Given the description of an element on the screen output the (x, y) to click on. 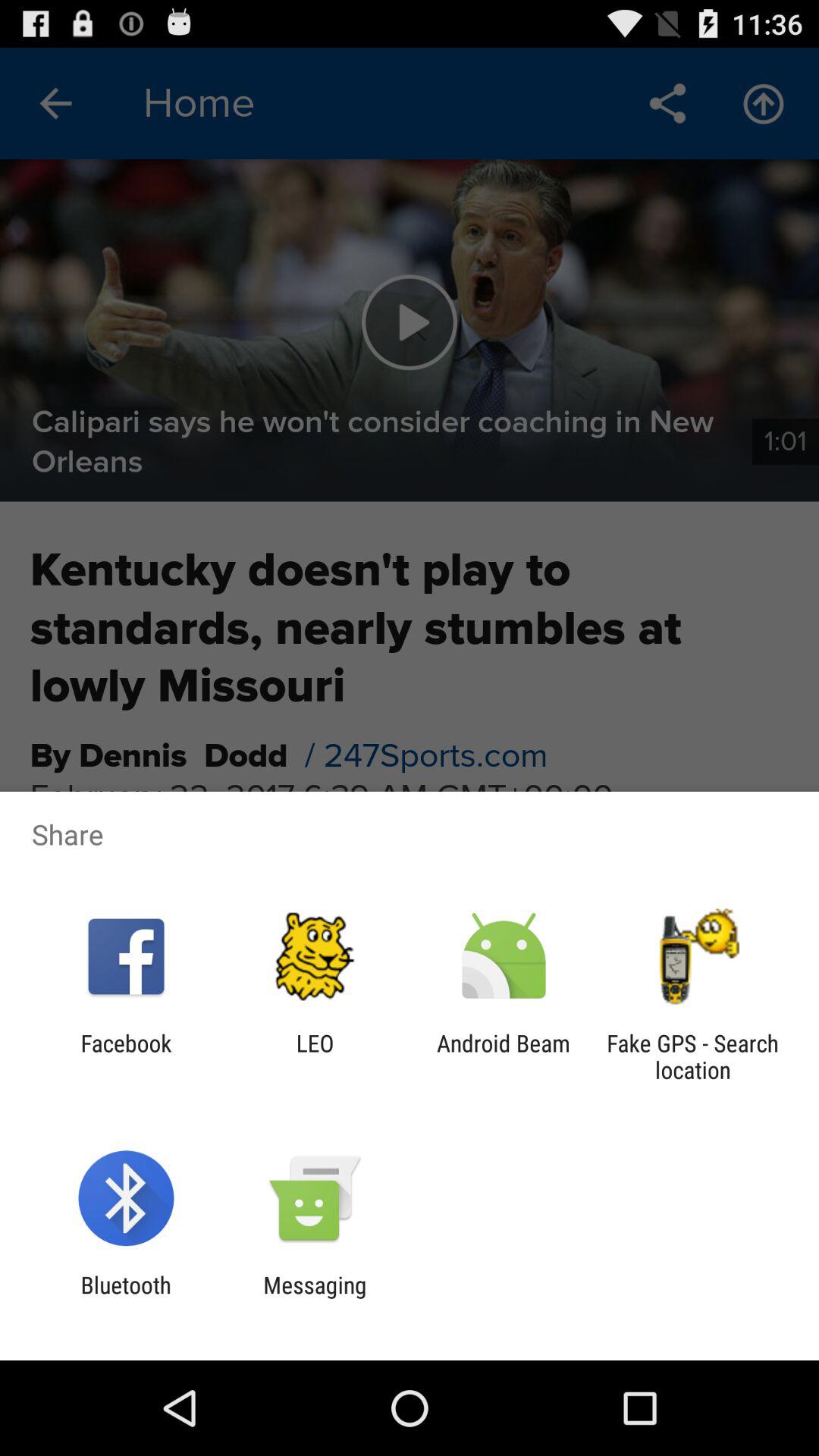
jump until facebook app (125, 1056)
